Given the description of an element on the screen output the (x, y) to click on. 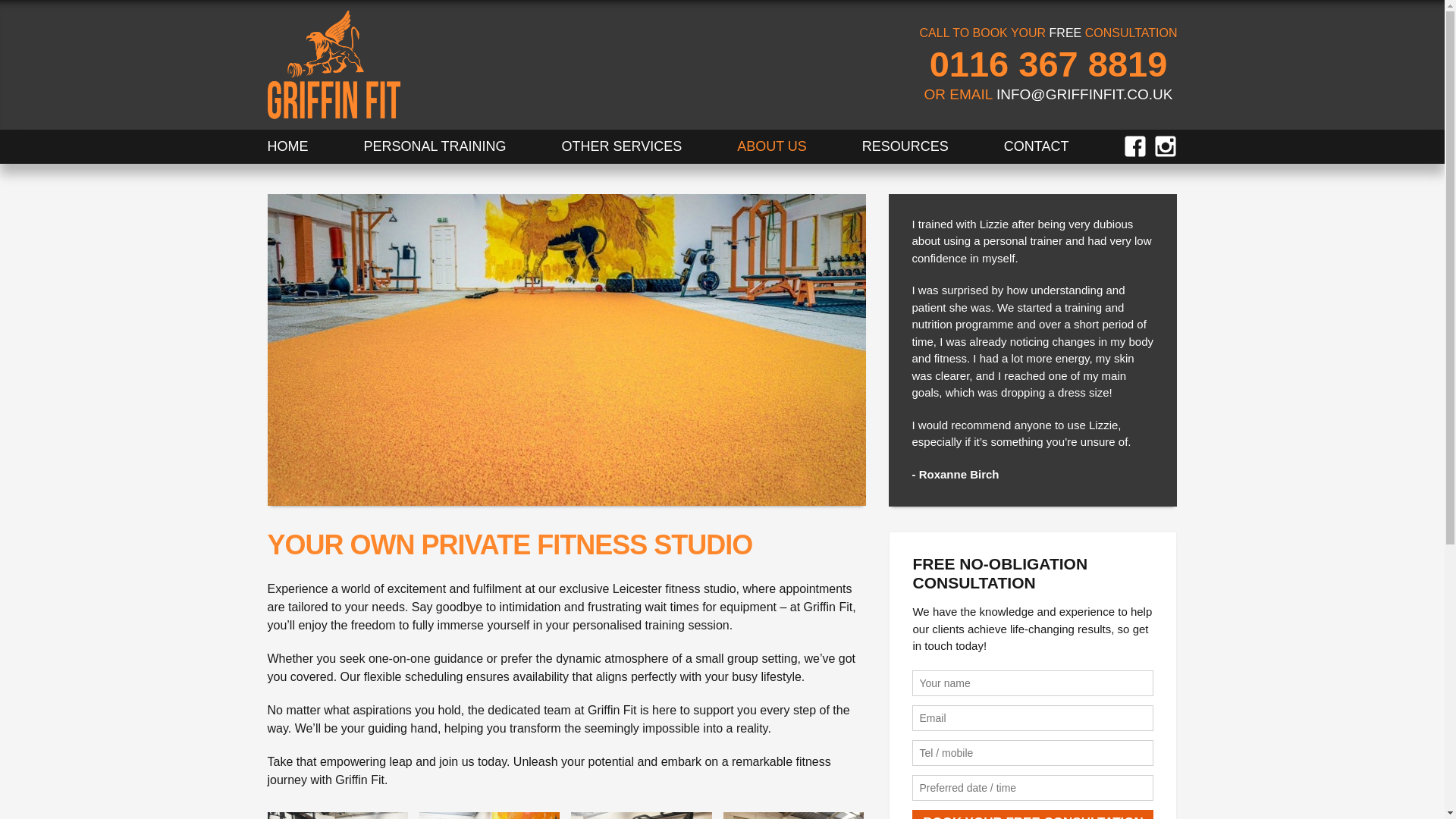
ABOUT US (771, 145)
OTHER SERVICES (620, 145)
0116 367 8819 (1048, 64)
BOOK YOUR FREE CONSULTATION (1032, 814)
PERSONAL TRAINING (433, 145)
RESOURCES (905, 145)
CONTACT (1036, 145)
HOME (286, 145)
